Given the description of an element on the screen output the (x, y) to click on. 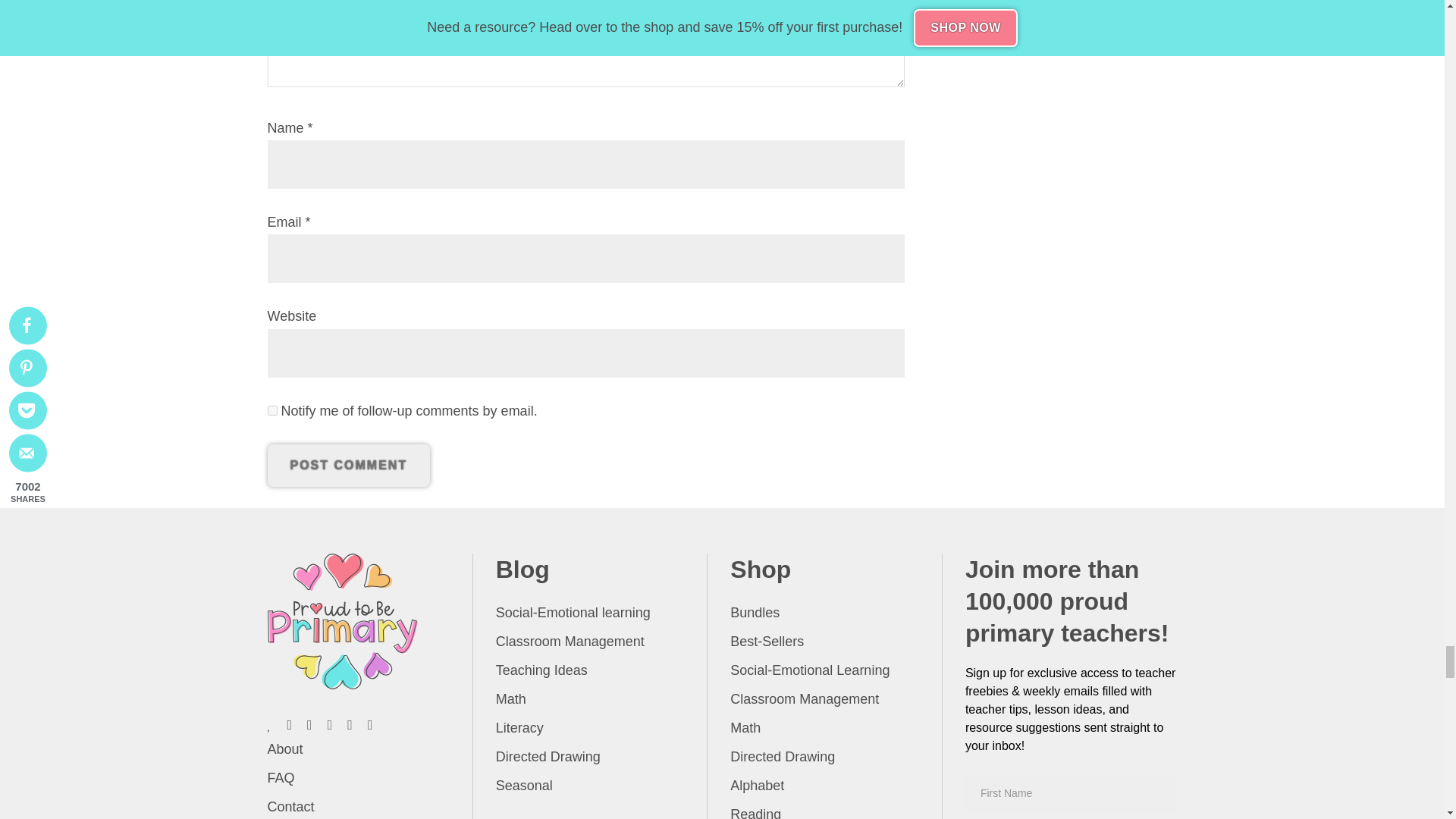
subscribe (271, 410)
Post Comment (347, 465)
